Given the description of an element on the screen output the (x, y) to click on. 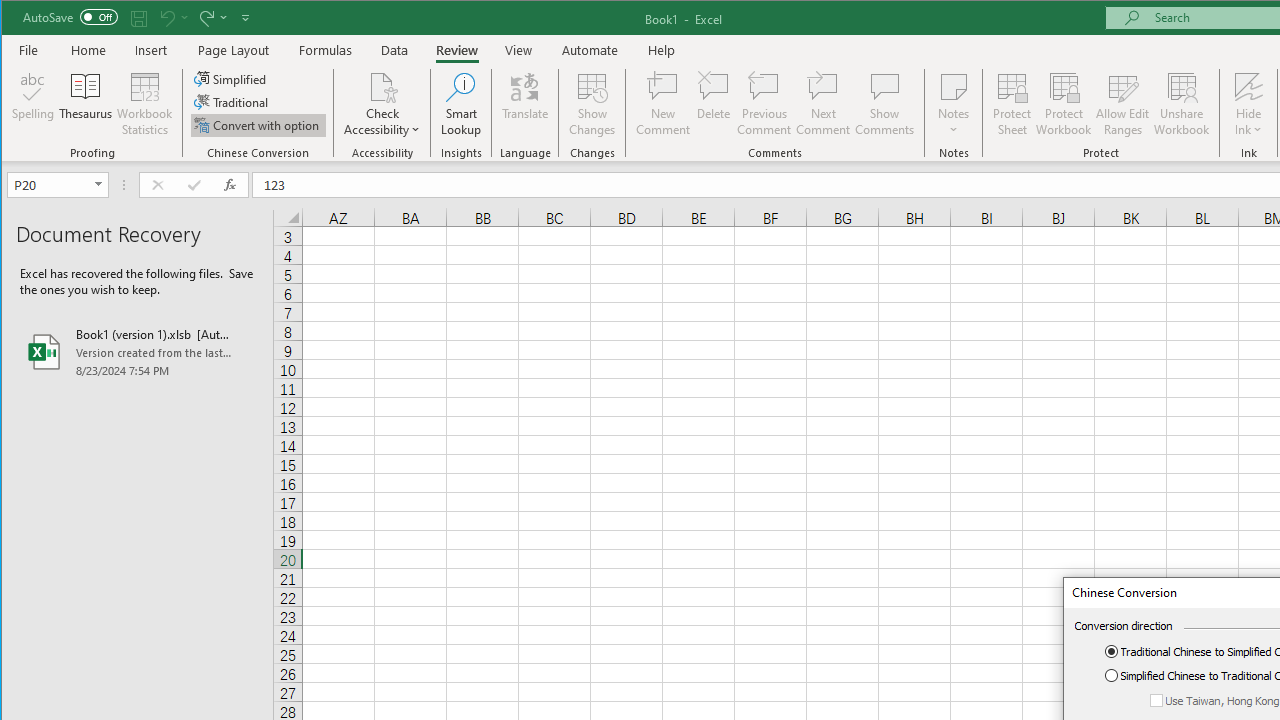
Workbook Statistics (145, 104)
